Given the description of an element on the screen output the (x, y) to click on. 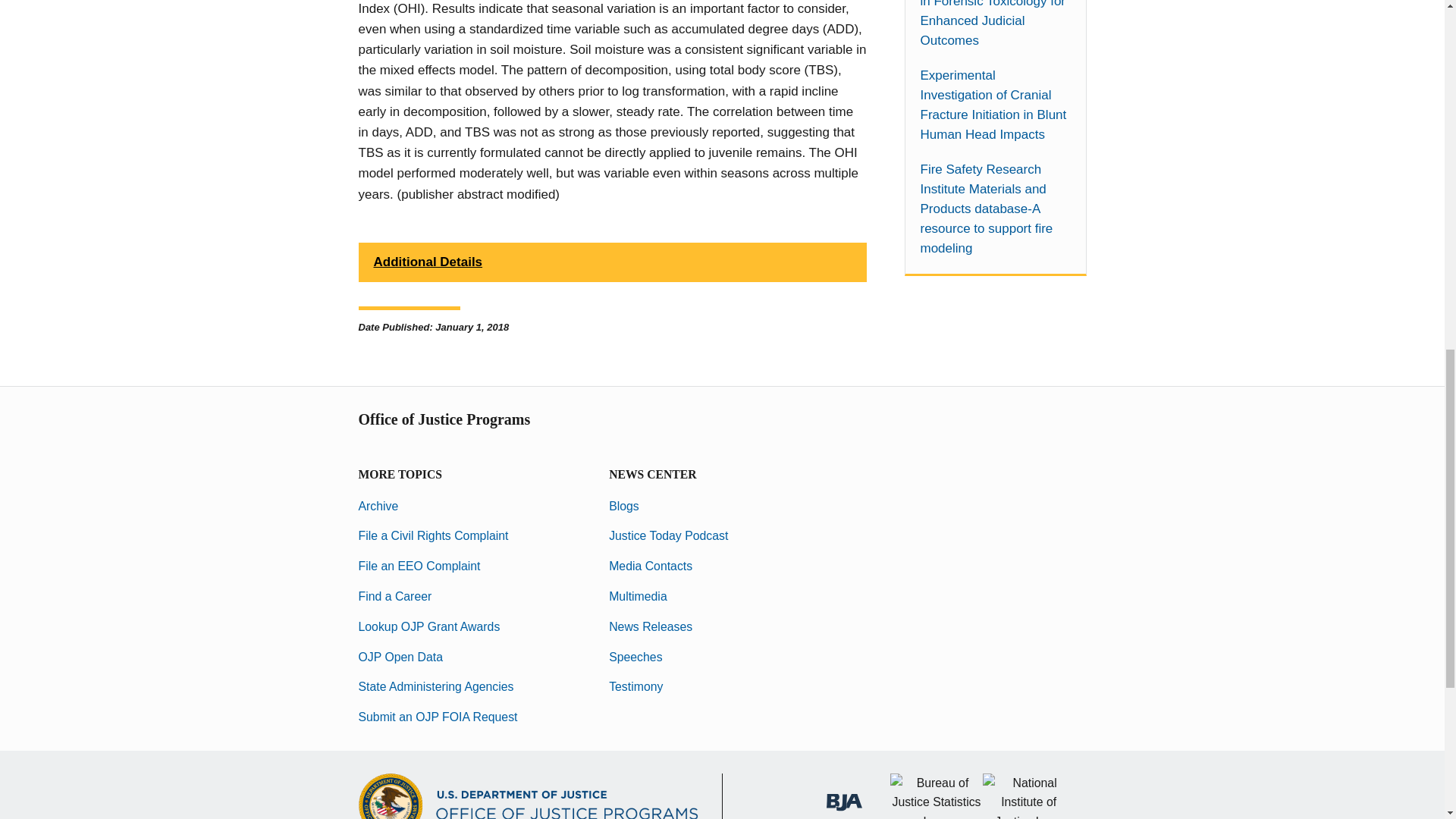
Additional Details (612, 261)
